Given the description of an element on the screen output the (x, y) to click on. 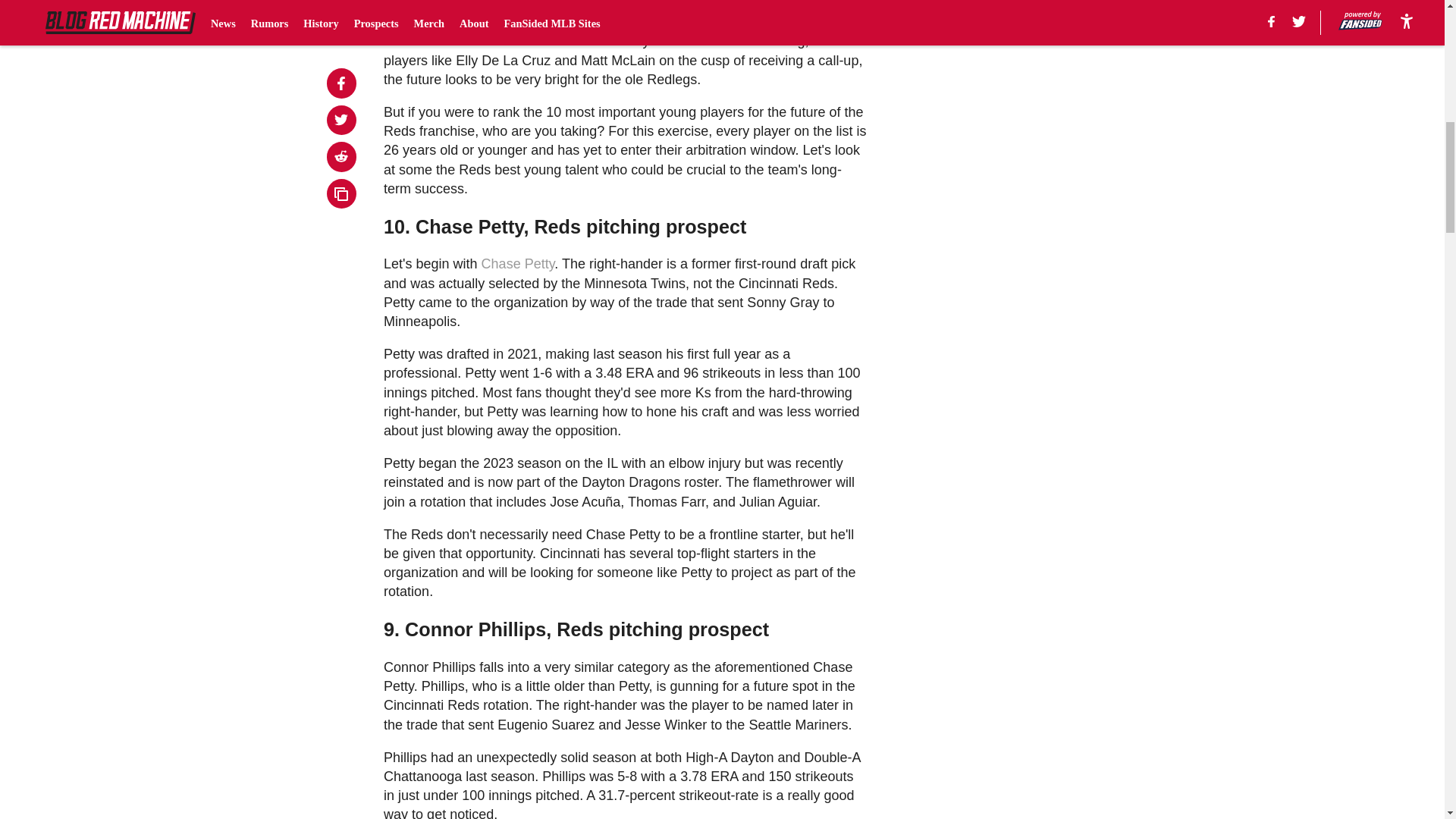
Chase Petty (517, 263)
